Given the description of an element on the screen output the (x, y) to click on. 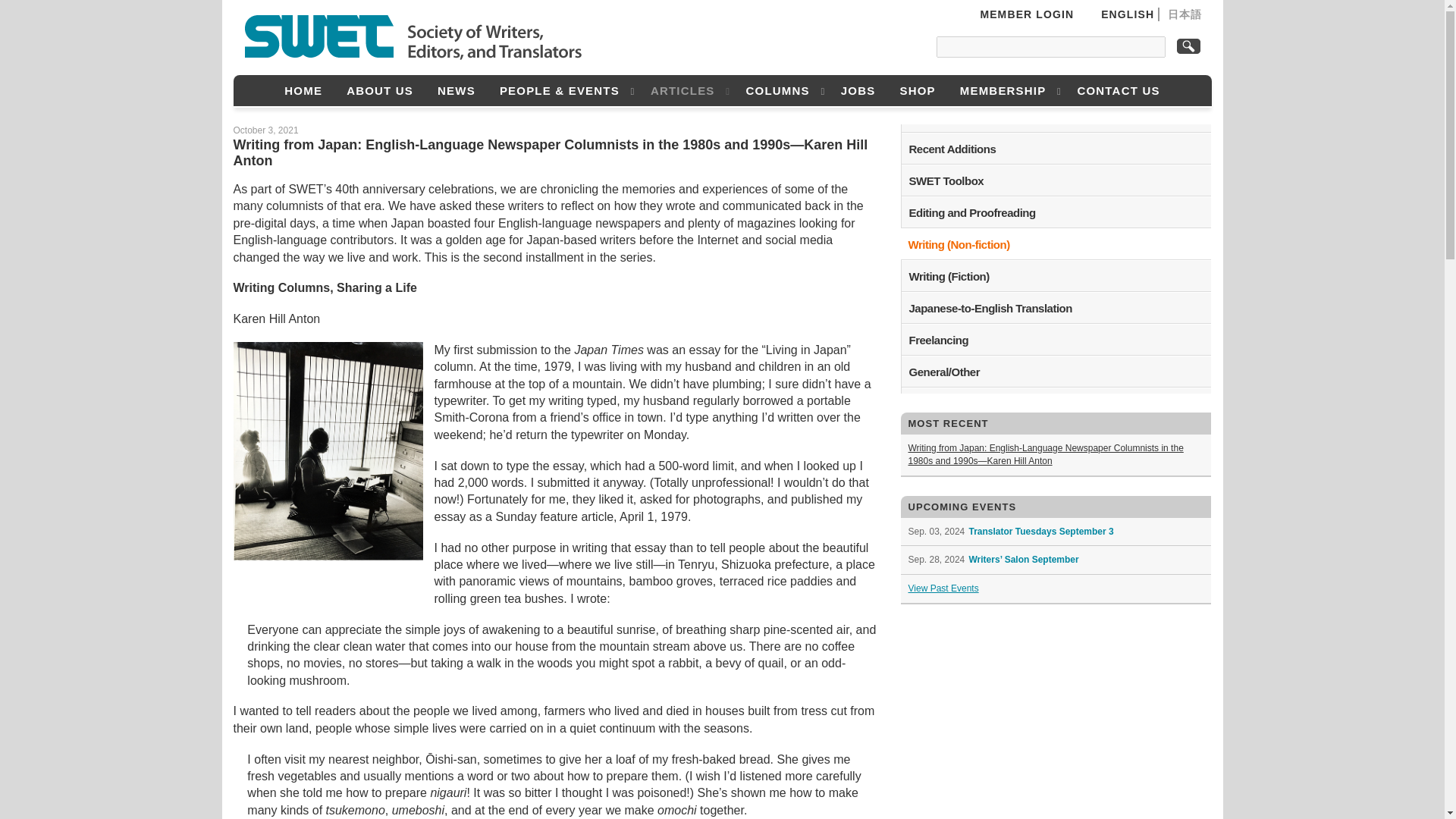
COLUMNS (780, 90)
Home (303, 90)
MEMBER LOGIN (1020, 14)
Use quotation marks to refine your search (1051, 46)
Search (1187, 46)
ENGLISH (1126, 14)
HOME (303, 90)
About us (379, 90)
Search (1187, 46)
ARTICLES (686, 90)
